Given the description of an element on the screen output the (x, y) to click on. 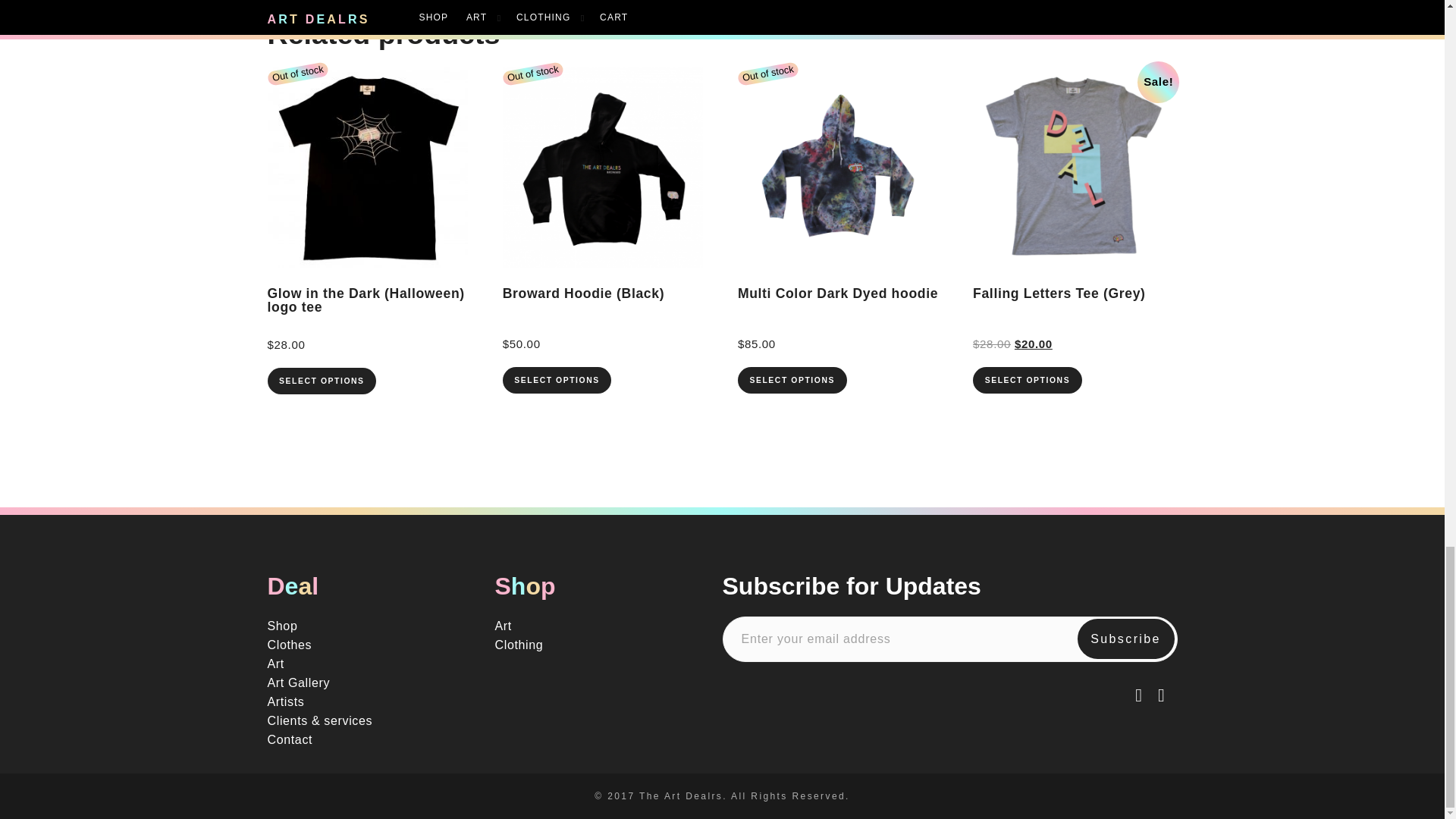
SELECT OPTIONS (320, 380)
SELECT OPTIONS (792, 379)
Subscribe (1125, 639)
SELECT OPTIONS (556, 379)
